Given the description of an element on the screen output the (x, y) to click on. 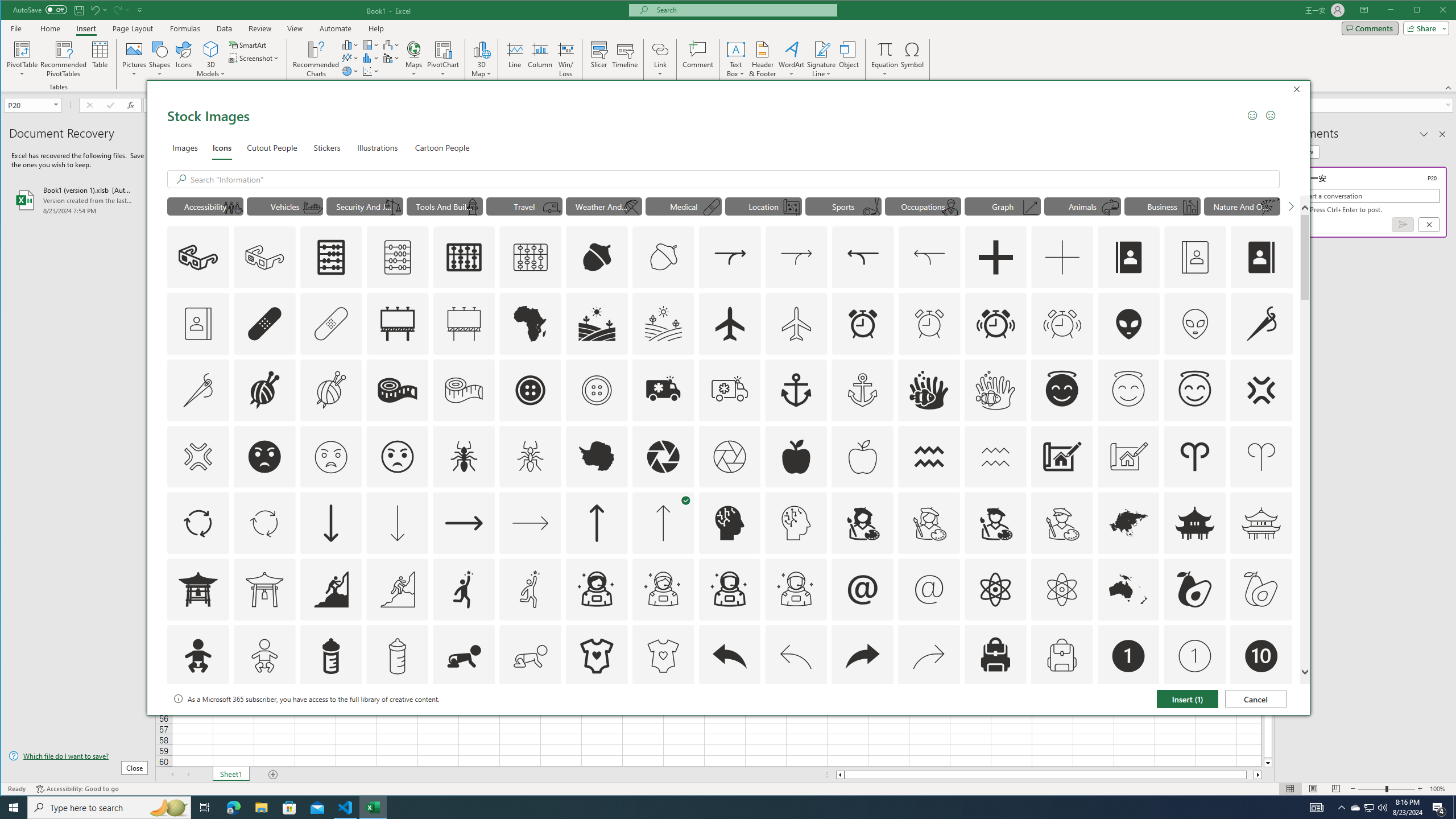
AutomationID: Icons_Africa (530, 323)
Slicer... (598, 59)
Stickers (327, 147)
AutomationID: Icons_Ant_M (530, 456)
AutomationID: Icons_AdhesiveBandage_M (330, 323)
Insert Scatter (X, Y) or Bubble Chart (371, 70)
AutomationID: Icons_Australia (1128, 589)
AutomationID: Icons_ArrowCircle (197, 522)
